Given the description of an element on the screen output the (x, y) to click on. 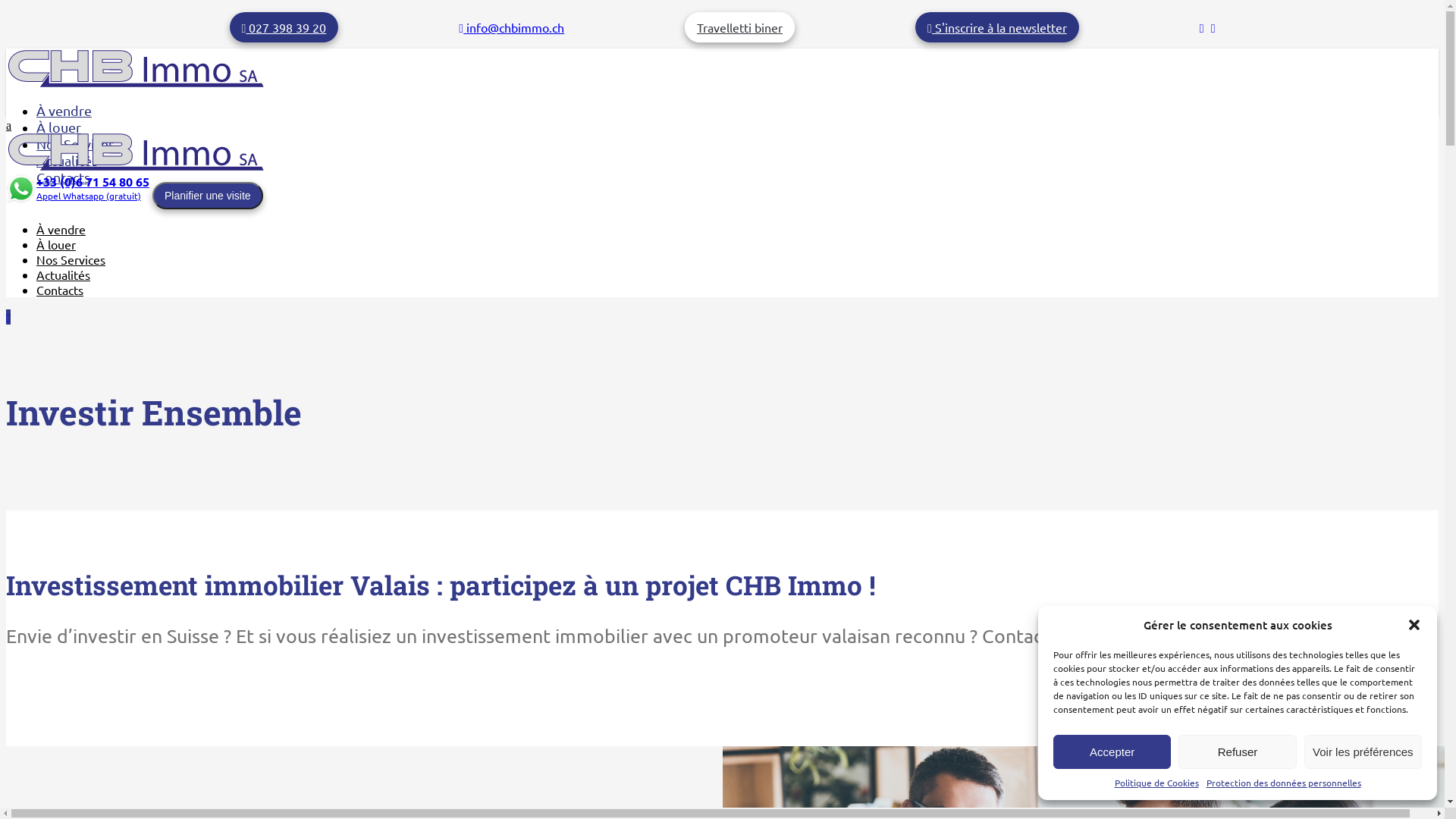
Travelletti biner Element type: text (739, 26)
Accepter Element type: text (1111, 751)
info@chbimmo.ch Element type: text (511, 26)
Nos Services Element type: text (70, 258)
Contacts Element type: text (59, 289)
Appel Whatsapp (gratuit) Element type: text (88, 195)
Planifier une visite Element type: text (207, 196)
Refuser Element type: text (1236, 751)
Contacts Element type: text (63, 177)
Nos Services Element type: text (75, 143)
027 398 39 20 Element type: text (283, 26)
Politique de Cookies Element type: text (1156, 782)
+33 (0)6 71 54 80 65 Element type: text (92, 181)
